Given the description of an element on the screen output the (x, y) to click on. 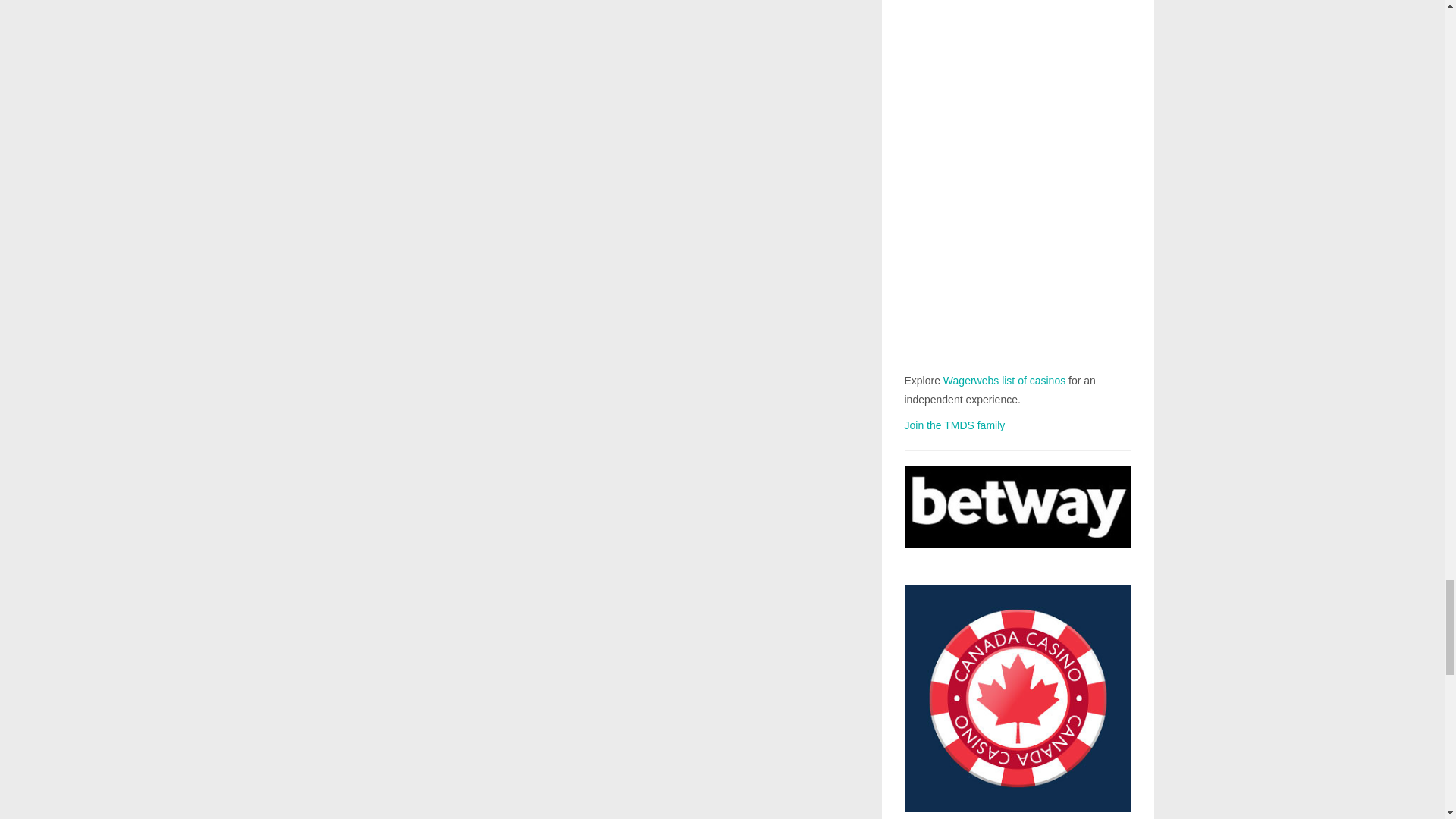
canada casino (1017, 701)
